Given the description of an element on the screen output the (x, y) to click on. 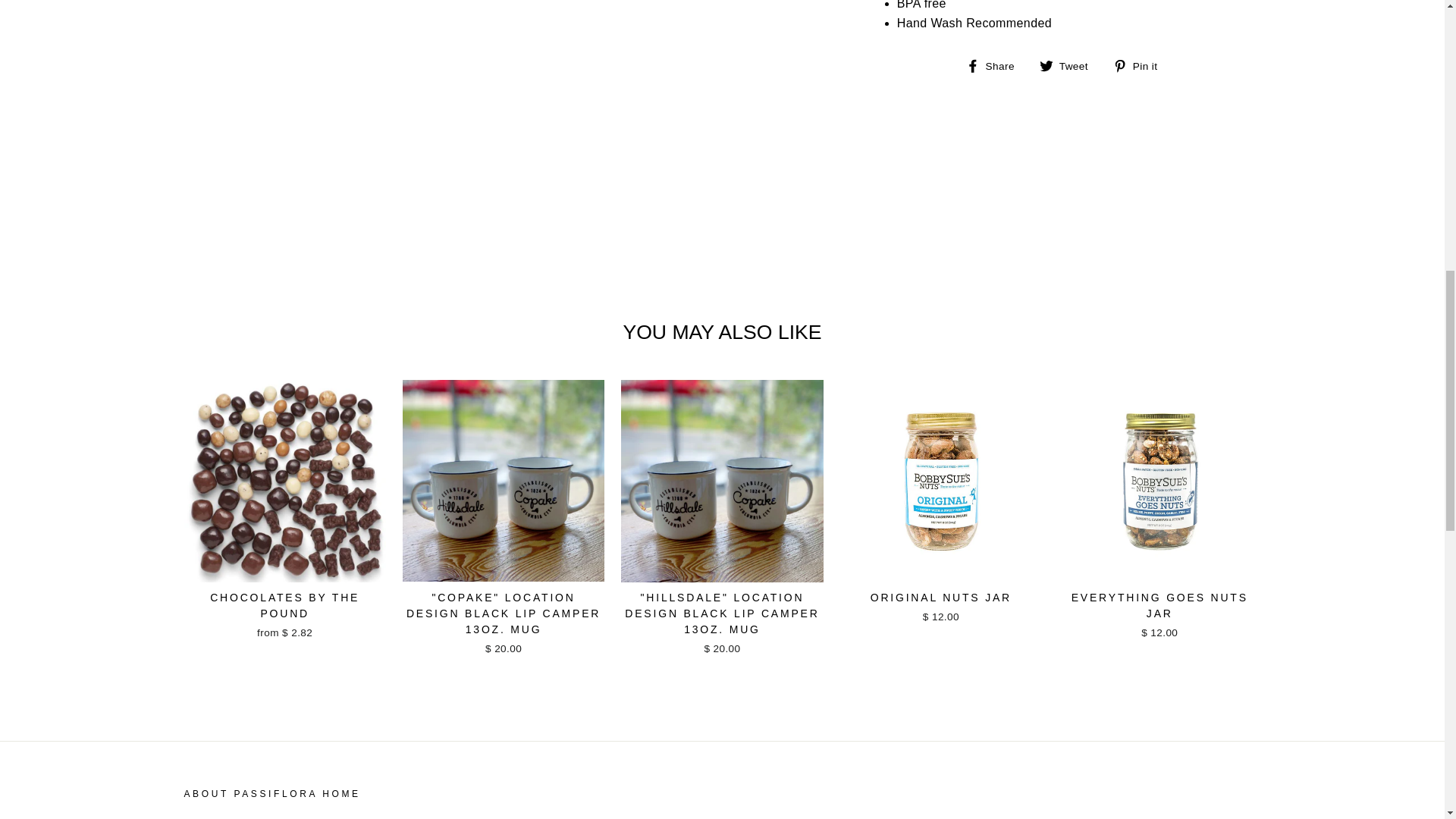
Pin on Pinterest (1141, 66)
Share on Facebook (996, 66)
Tweet on Twitter (1069, 66)
